Given the description of an element on the screen output the (x, y) to click on. 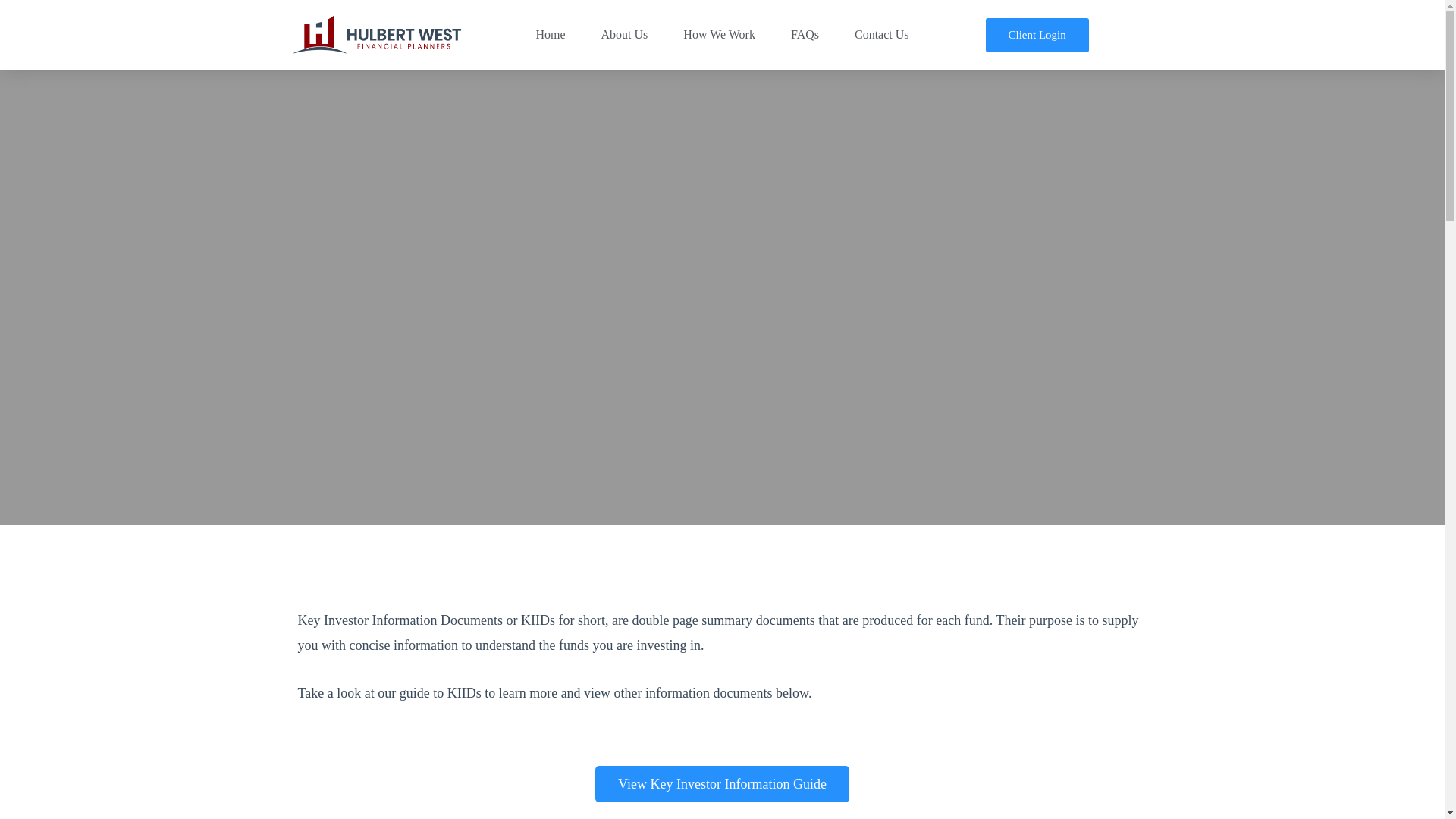
Contact Us (882, 34)
How We Work (719, 34)
About Us (624, 34)
Client Login (1037, 35)
View Key Investor Information Guide (721, 783)
